Given the description of an element on the screen output the (x, y) to click on. 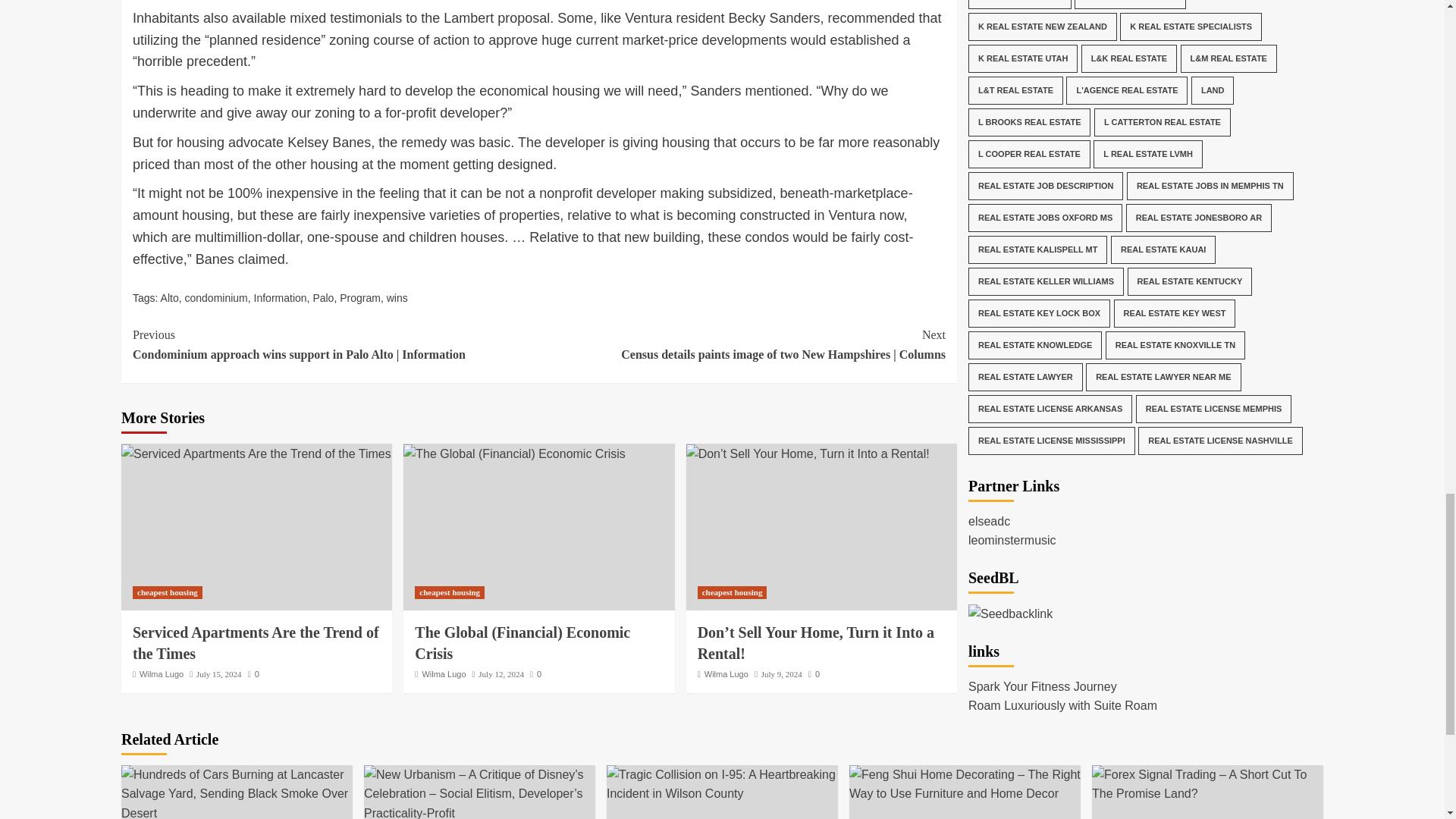
July 15, 2024 (218, 673)
Wilma Lugo (443, 673)
Seedbacklink (1010, 356)
0 (253, 673)
wins (397, 297)
July 12, 2024 (501, 673)
cheapest housing (449, 592)
Program (359, 297)
Wilma Lugo (161, 673)
condominium (215, 297)
Serviced Apartments Are the Trend of the Times (255, 642)
Serviced Apartments Are the Trend of the Times (255, 454)
Alto (169, 297)
